Given the description of an element on the screen output the (x, y) to click on. 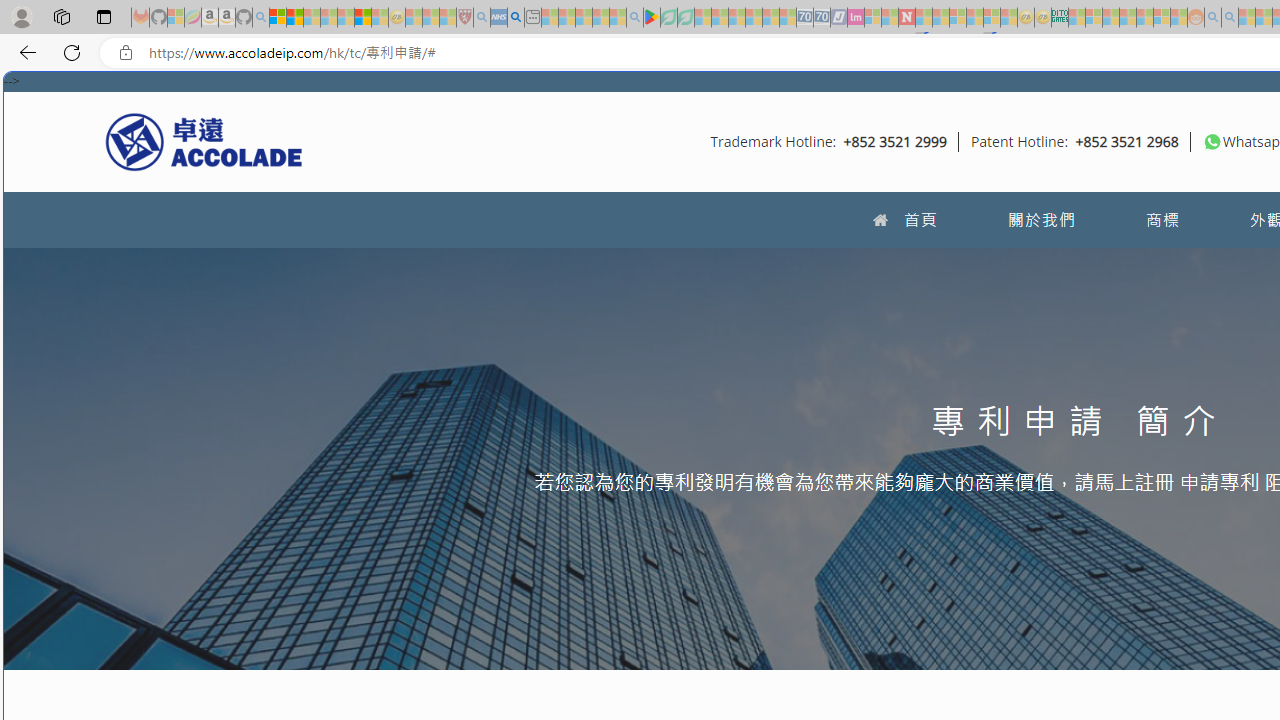
Terms of Use Agreement - Sleeping (668, 17)
Cheap Hotels - Save70.com - Sleeping (821, 17)
Recipes - MSN - Sleeping (413, 17)
Jobs - lastminute.com Investor Portal - Sleeping (855, 17)
